Given the description of an element on the screen output the (x, y) to click on. 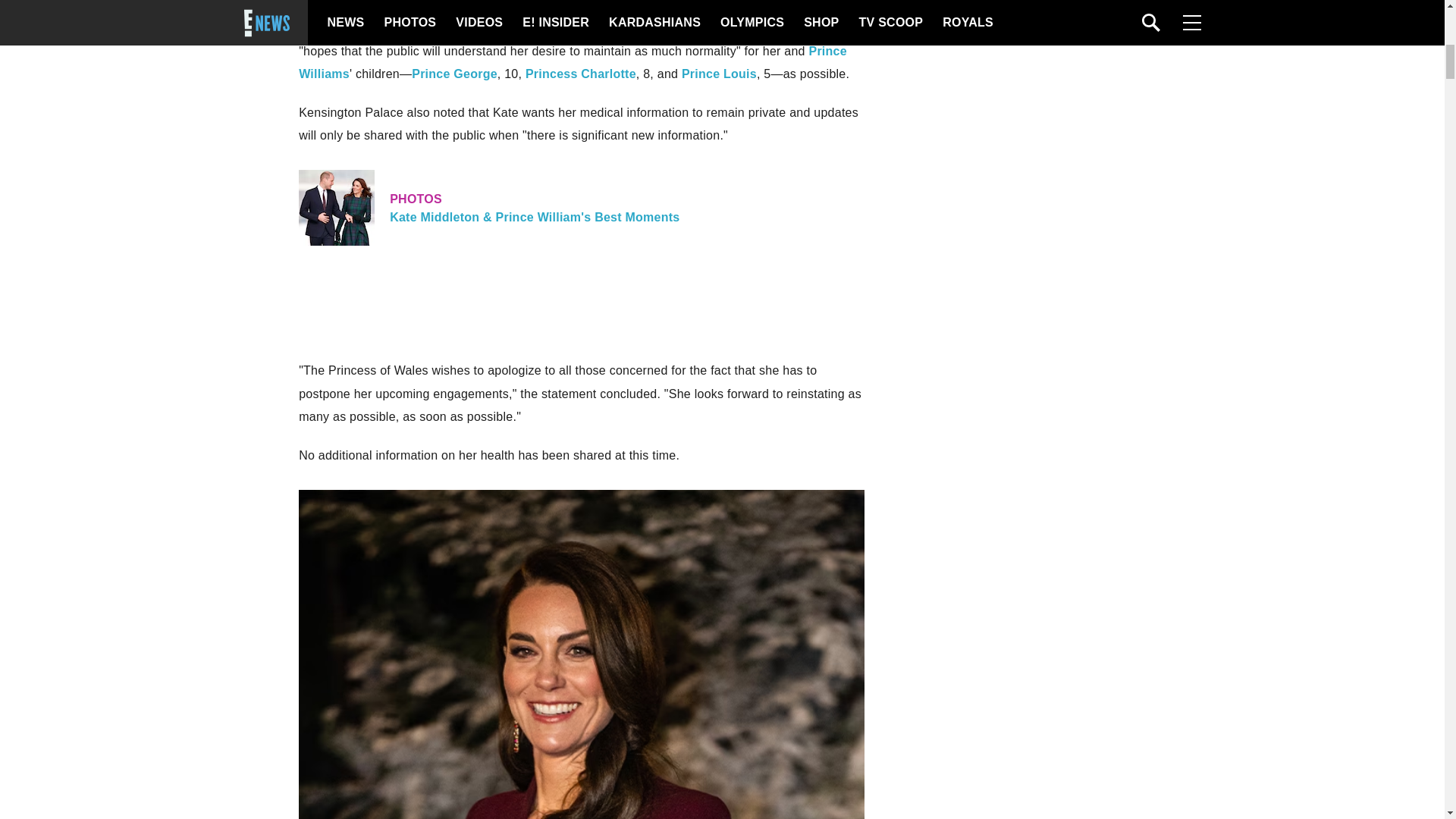
Prince Williams (572, 62)
Prince Louis (719, 73)
Princess Charlotte (580, 73)
Prince George (454, 73)
